Given the description of an element on the screen output the (x, y) to click on. 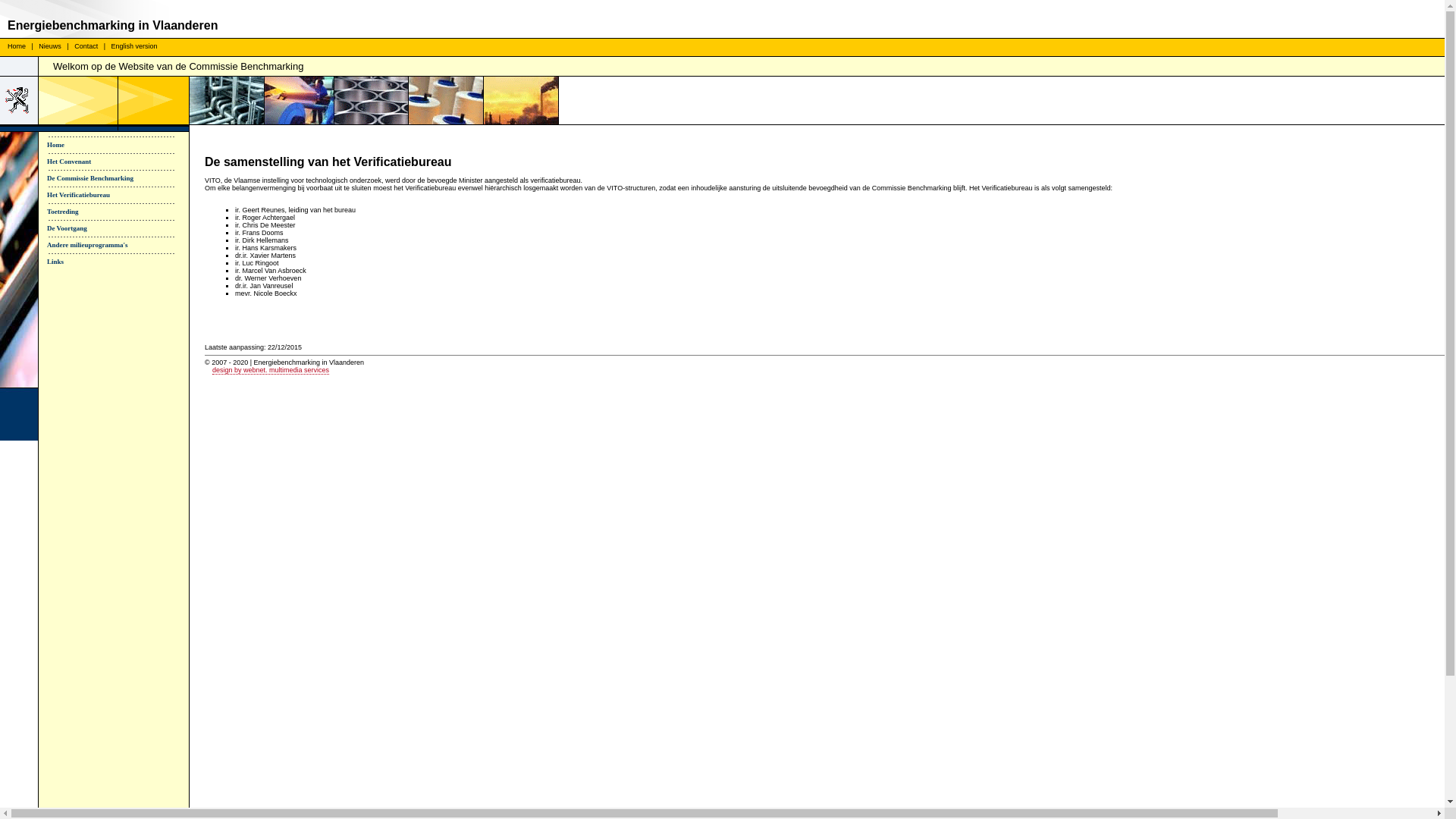
Contact Element type: text (85, 46)
Home Element type: text (16, 46)
Toetreding Element type: text (118, 211)
design by webnet. multimedia services Element type: text (270, 370)
English version Element type: text (134, 46)
De Commissie Benchmarking Element type: text (118, 177)
Nieuws Element type: text (49, 46)
Andere milieuprogramma's Element type: text (118, 244)
Links Element type: text (118, 261)
De Voortgang Element type: text (118, 227)
Home Element type: text (118, 144)
Het Convenant Element type: text (118, 161)
Het Verificatiebureau Element type: text (118, 194)
